Given the description of an element on the screen output the (x, y) to click on. 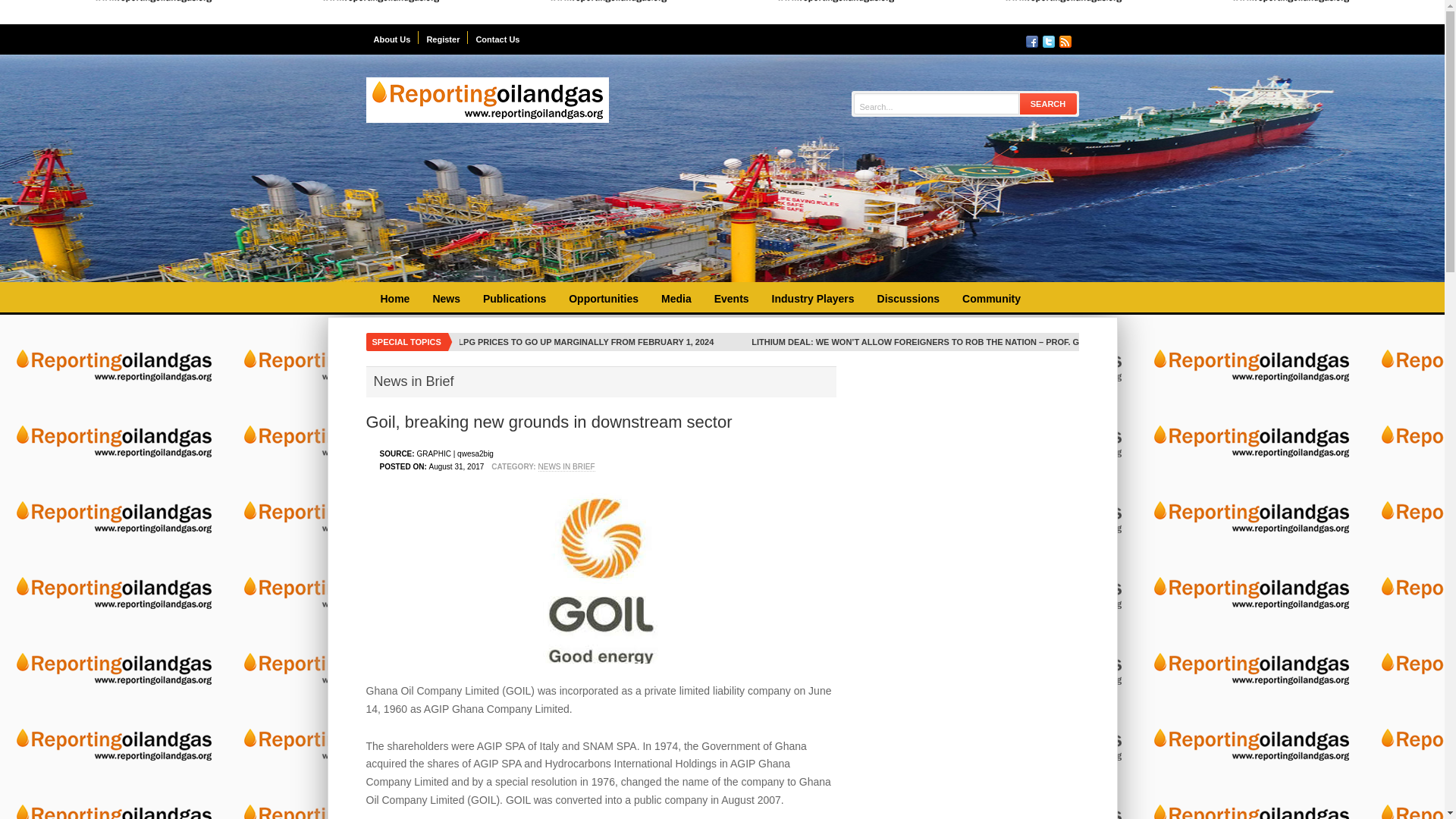
Industry Players (813, 298)
Community (991, 298)
Discussions (908, 298)
Search... (935, 106)
News (445, 298)
Events (731, 298)
Search (1047, 103)
Search (1047, 103)
NEWS IN BRIEF (566, 466)
Home (394, 298)
Media (676, 298)
Opportunities (603, 298)
Publications (514, 298)
